Given the description of an element on the screen output the (x, y) to click on. 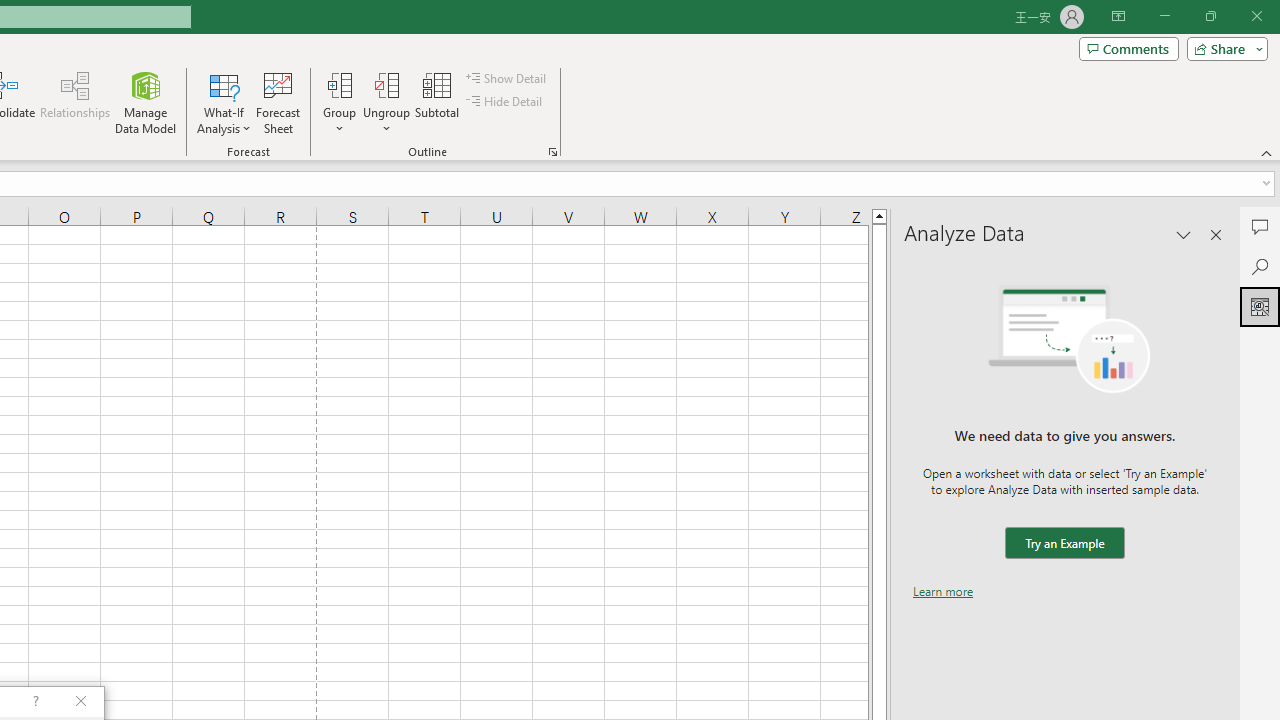
We need data to give you answers. Try an Example (1064, 543)
Learn more (943, 591)
